Given the description of an element on the screen output the (x, y) to click on. 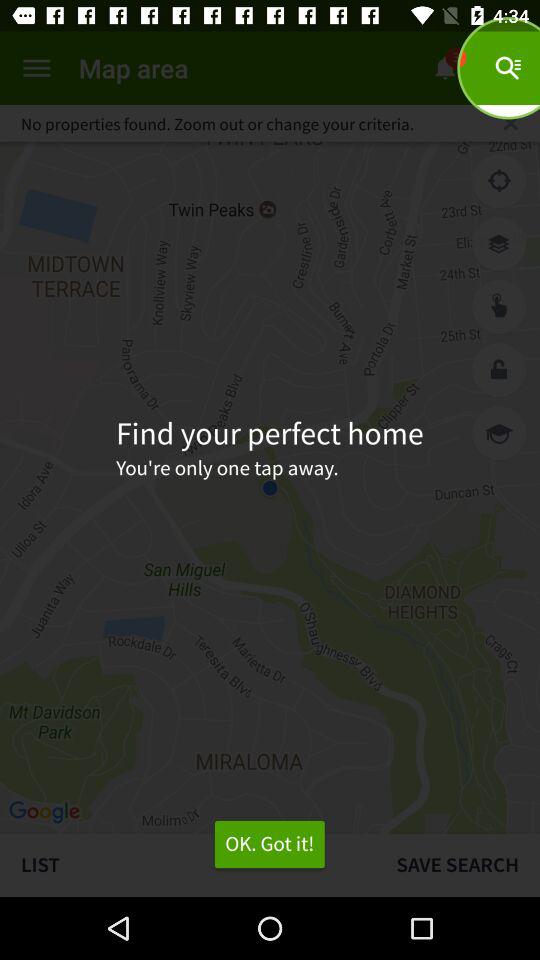
jump to the list (187, 864)
